Given the description of an element on the screen output the (x, y) to click on. 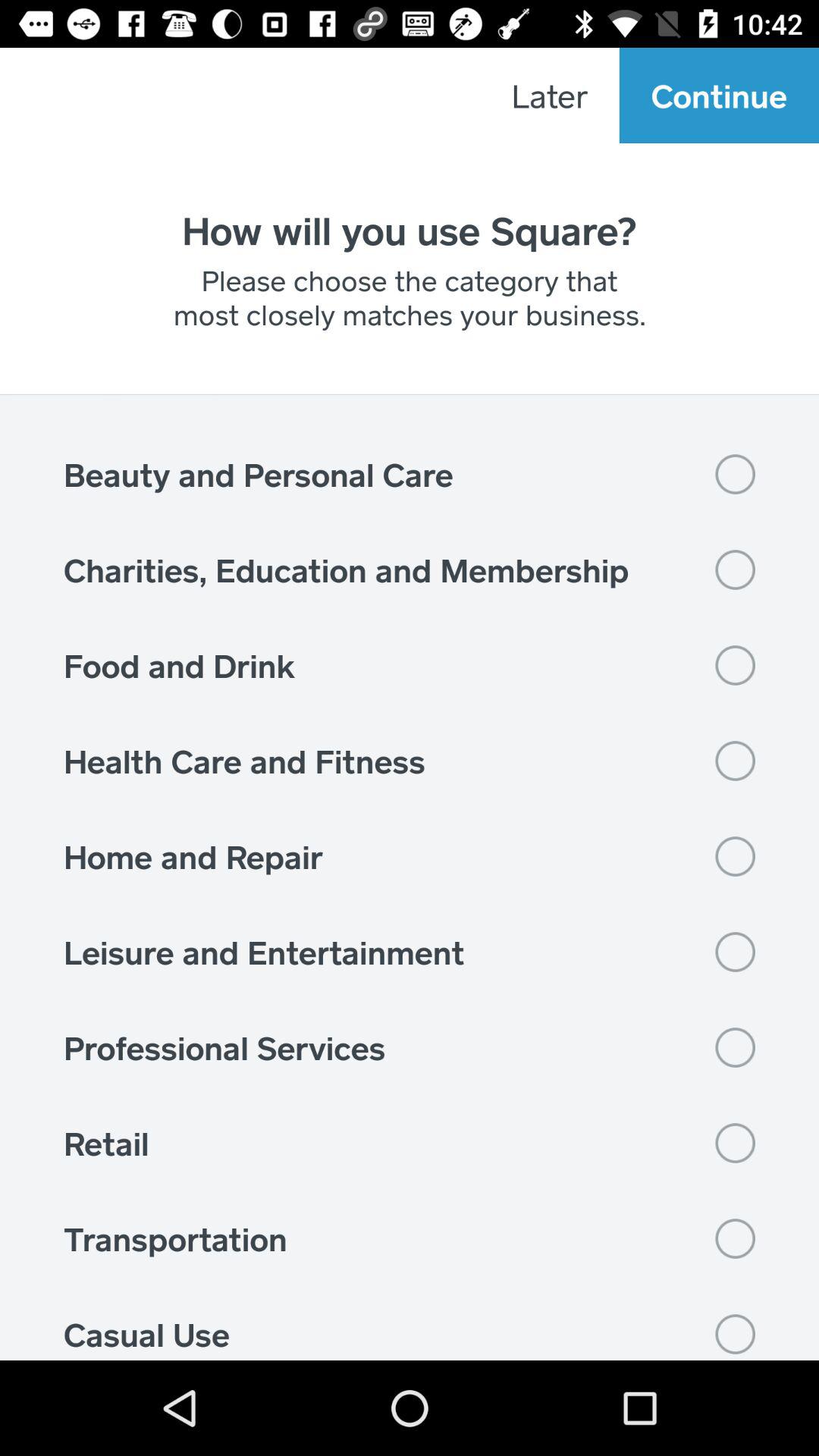
turn off home and repair icon (409, 856)
